Given the description of an element on the screen output the (x, y) to click on. 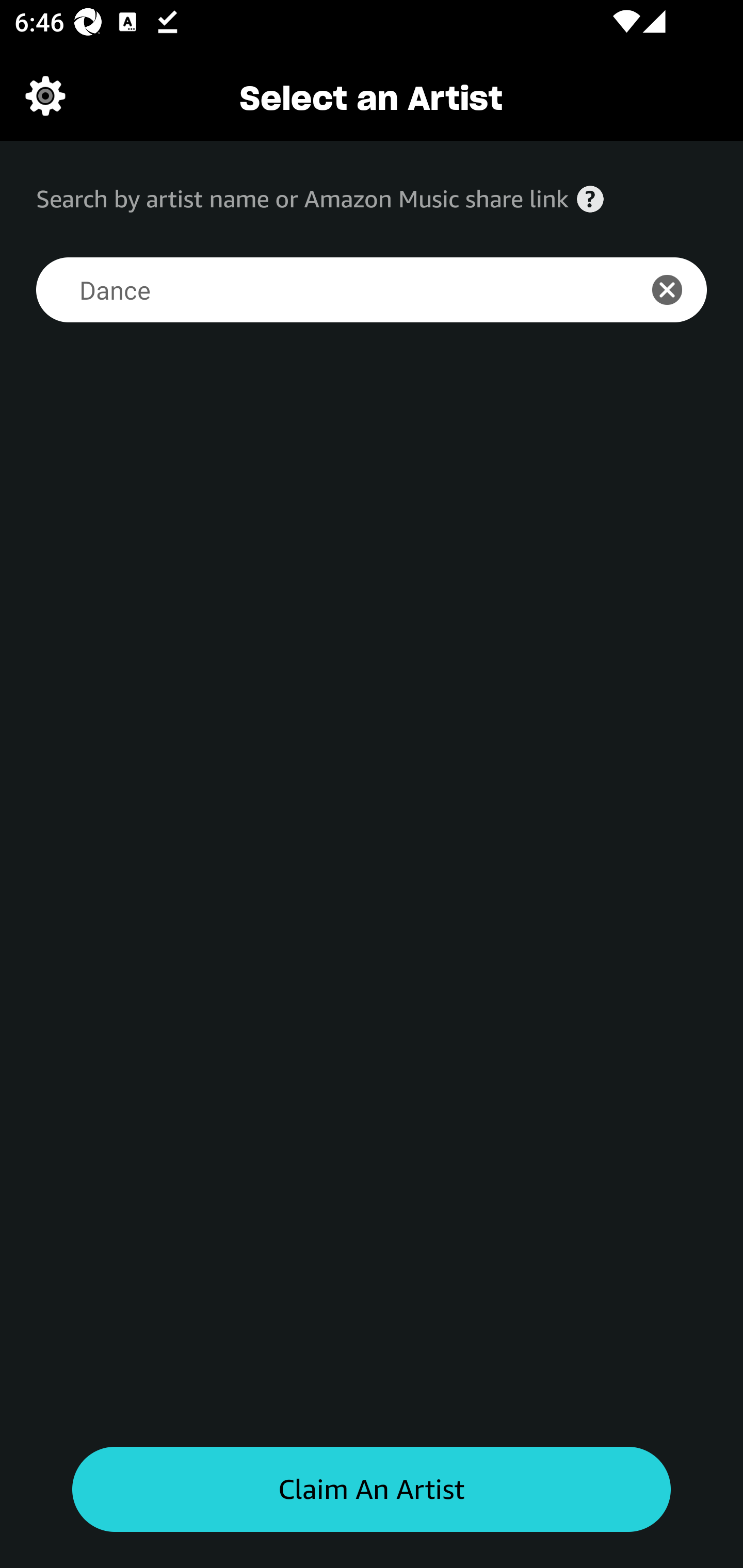
Help  icon (589, 199)
Dance Search for an artist search bar (324, 290)
 icon (677, 290)
Claim an artist button Claim An Artist (371, 1489)
